Given the description of an element on the screen output the (x, y) to click on. 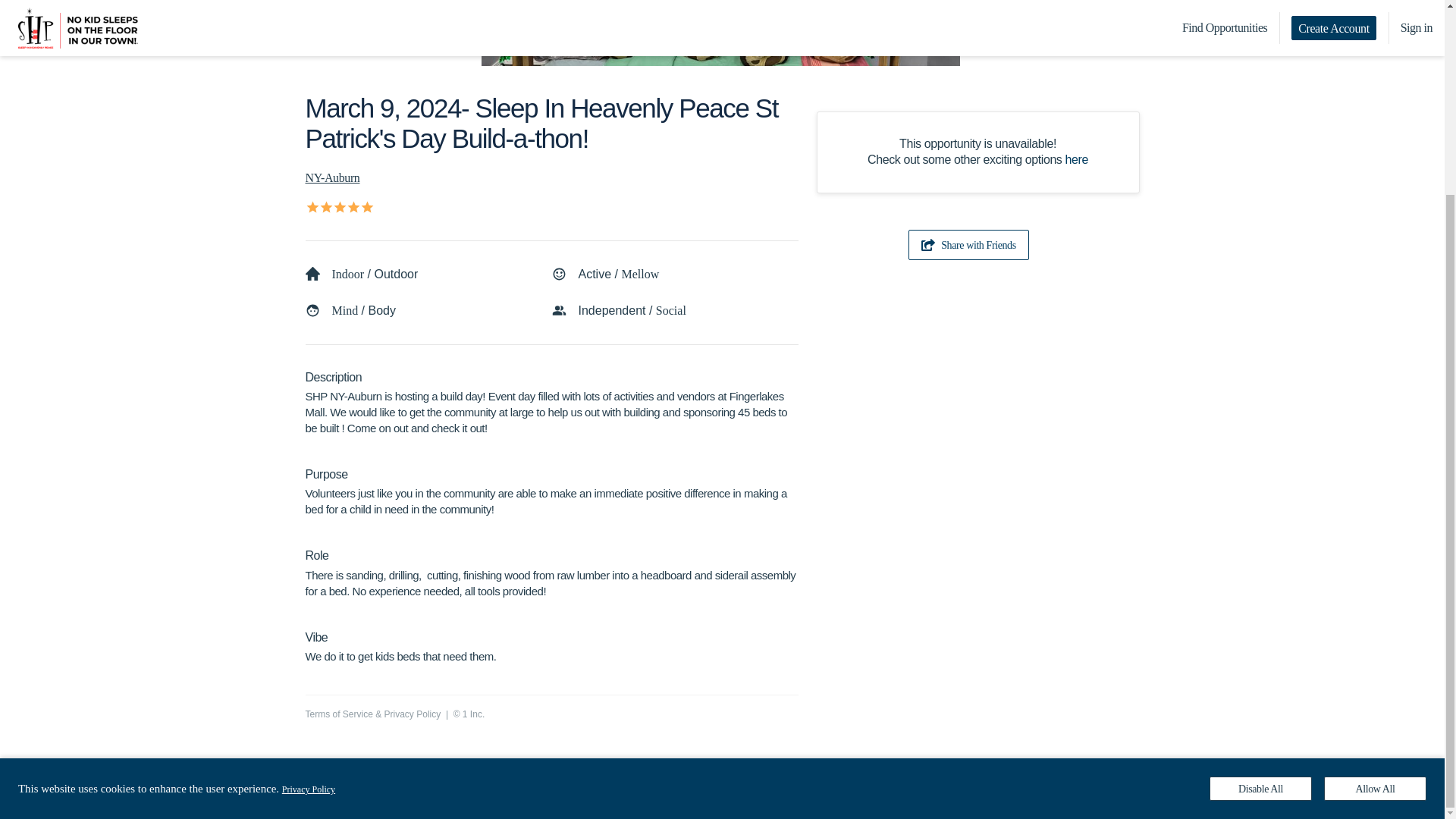
Allow All (1374, 542)
Disable All (1260, 542)
Privacy Policy (412, 714)
Privacy Policy (308, 543)
Rating: 5.0 (336, 206)
Share with Friends (968, 245)
Terms of Service (338, 714)
here (1076, 159)
